Given the description of an element on the screen output the (x, y) to click on. 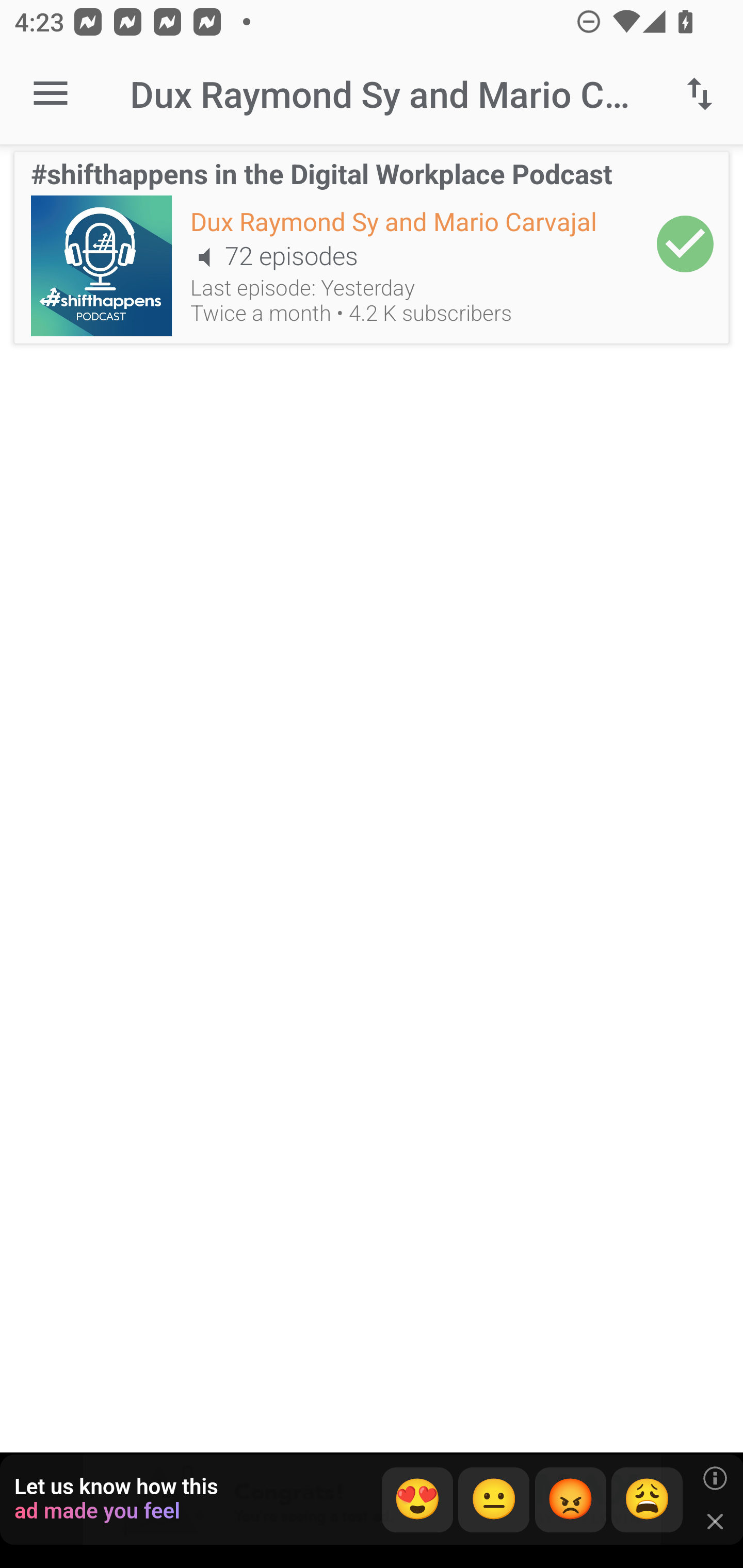
Open navigation sidebar (50, 93)
Sort (699, 93)
Add (684, 243)
app-monetization (371, 1500)
😍 (416, 1499)
😐 (493, 1499)
😡 (570, 1499)
😩 (647, 1499)
